Given the description of an element on the screen output the (x, y) to click on. 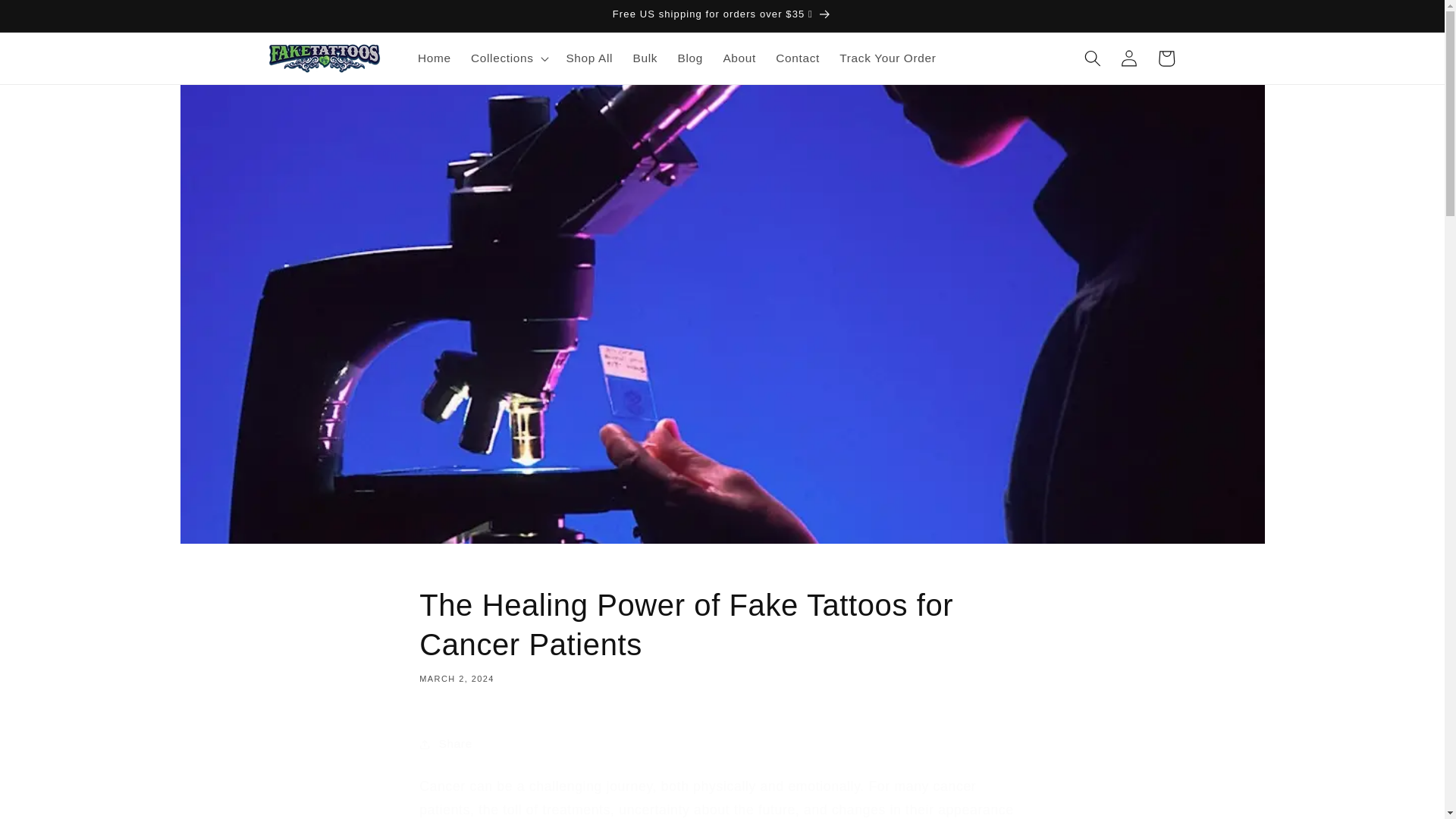
Skip to content (50, 19)
Share (722, 743)
